Given the description of an element on the screen output the (x, y) to click on. 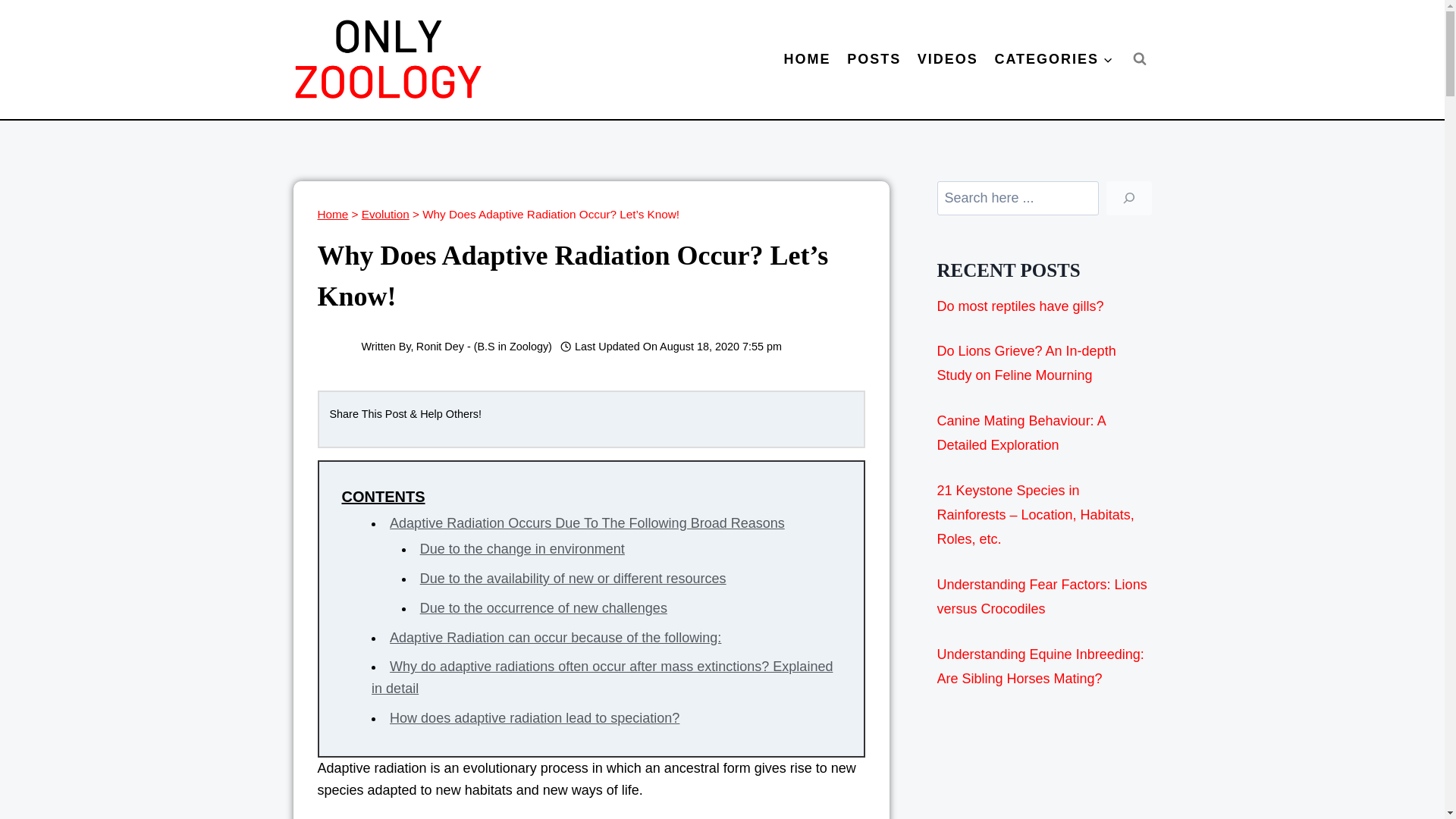
HOME (808, 59)
Adaptive Radiation Occurs Due To The Following Broad Reasons (587, 522)
CATEGORIES (1054, 59)
Adaptive Radiation can occur because of the following: (555, 637)
VIDEOS (947, 59)
Due to the availability of new or different resources (573, 578)
Due to the change in environment (522, 548)
Evolution (385, 214)
Due to the occurrence of new challenges (543, 607)
POSTS (873, 59)
